Given the description of an element on the screen output the (x, y) to click on. 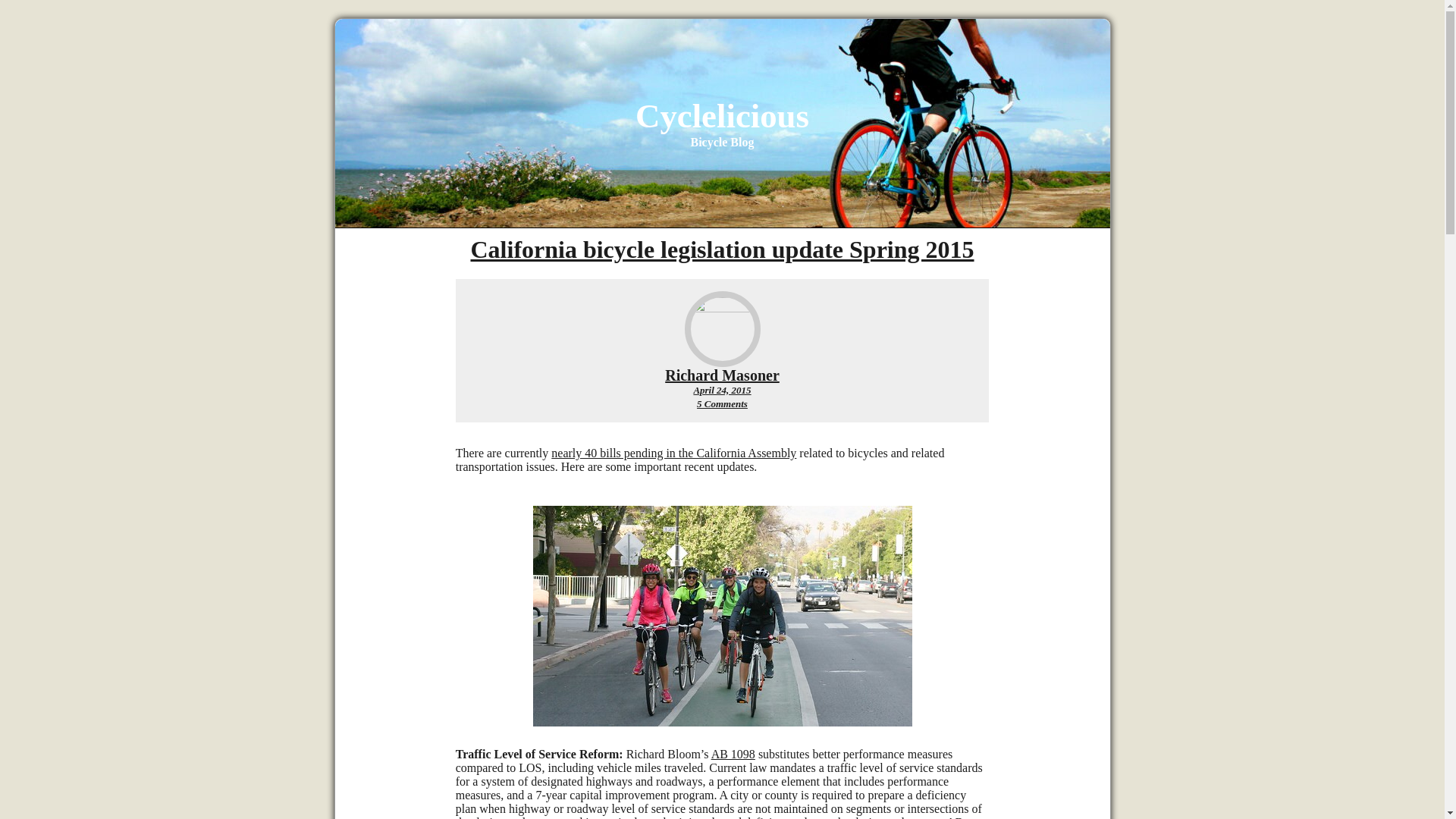
AB 1098 (733, 753)
San Jose Bike Pool by Richard Masoner, on Flickr (721, 721)
California Bicycle Legislation Tracker 2015 (673, 452)
California bicycle legislation update Spring 2015 (722, 248)
nearly 40 bills pending in the California Assembly (673, 452)
Richard Masoner (721, 375)
Cyclelicious (721, 116)
April 24, 2015 (722, 389)
View all posts by Richard Masoner (721, 375)
